Given the description of an element on the screen output the (x, y) to click on. 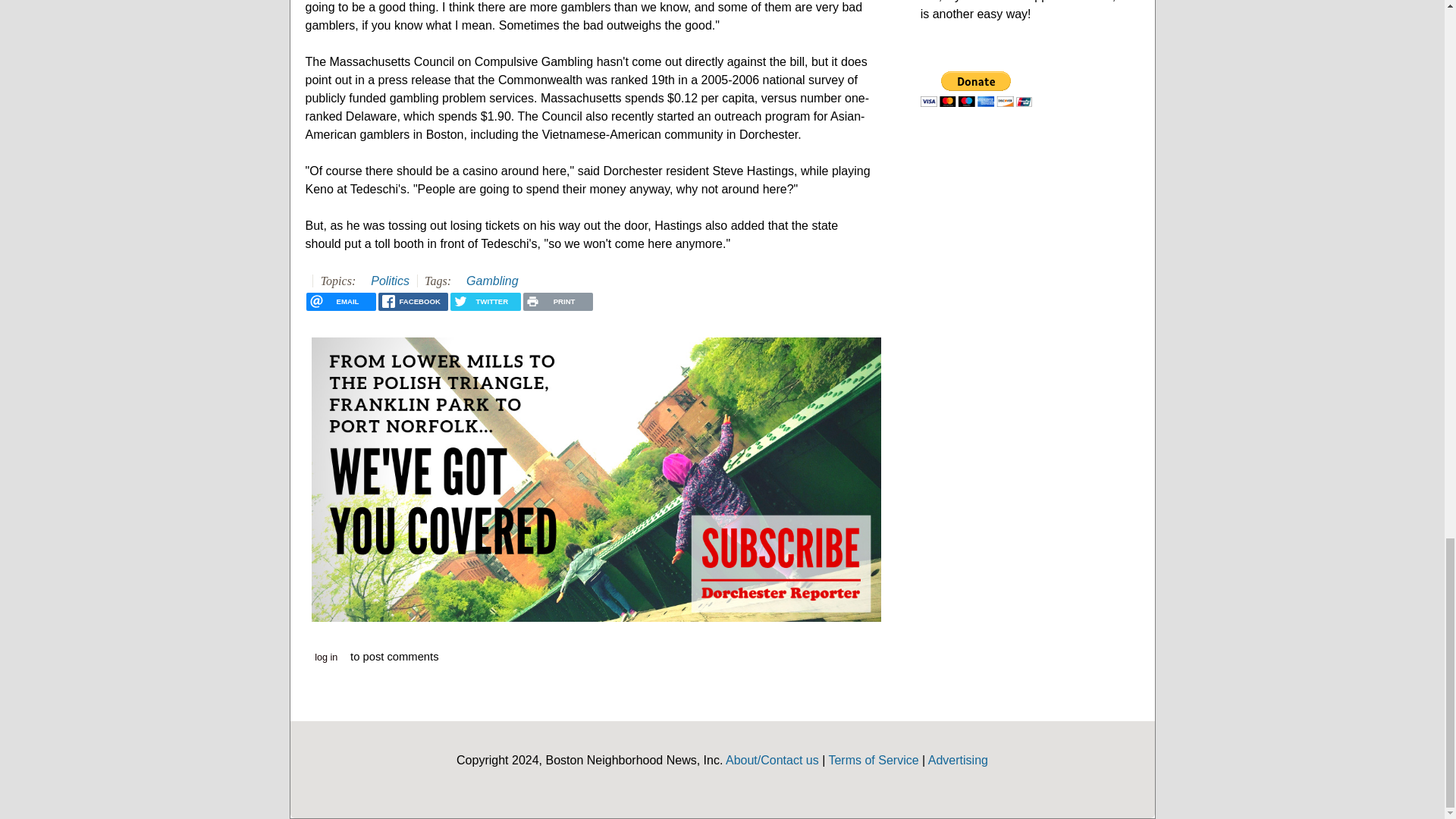
EMAIL (340, 301)
TWITTER (484, 301)
Politics (390, 280)
Gambling (491, 280)
FACEBOOK (413, 301)
log in (325, 657)
Advertising (958, 759)
Terms of Service (873, 759)
PRINT (557, 301)
PayPal - The safer, easier way to pay online! (976, 89)
